Given the description of an element on the screen output the (x, y) to click on. 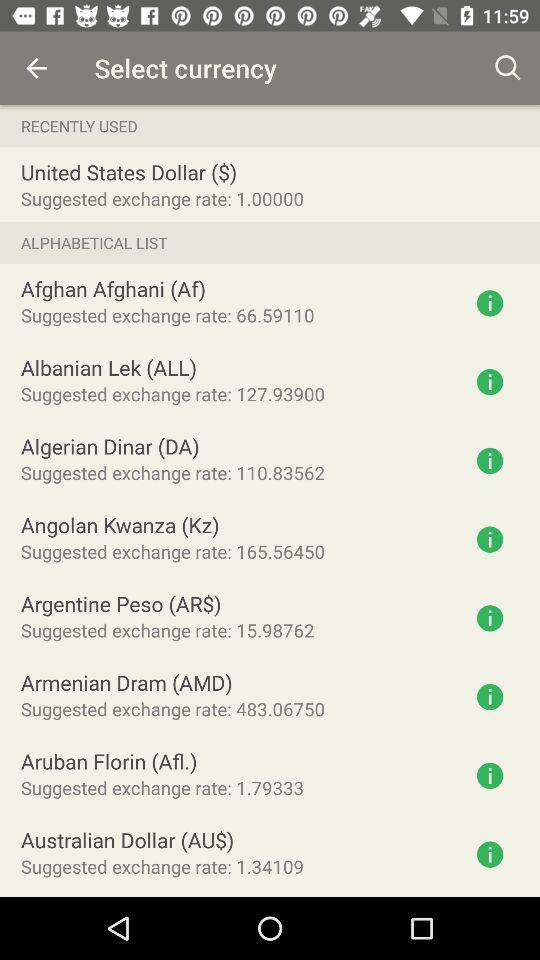
algerian dinar info (490, 460)
